Given the description of an element on the screen output the (x, y) to click on. 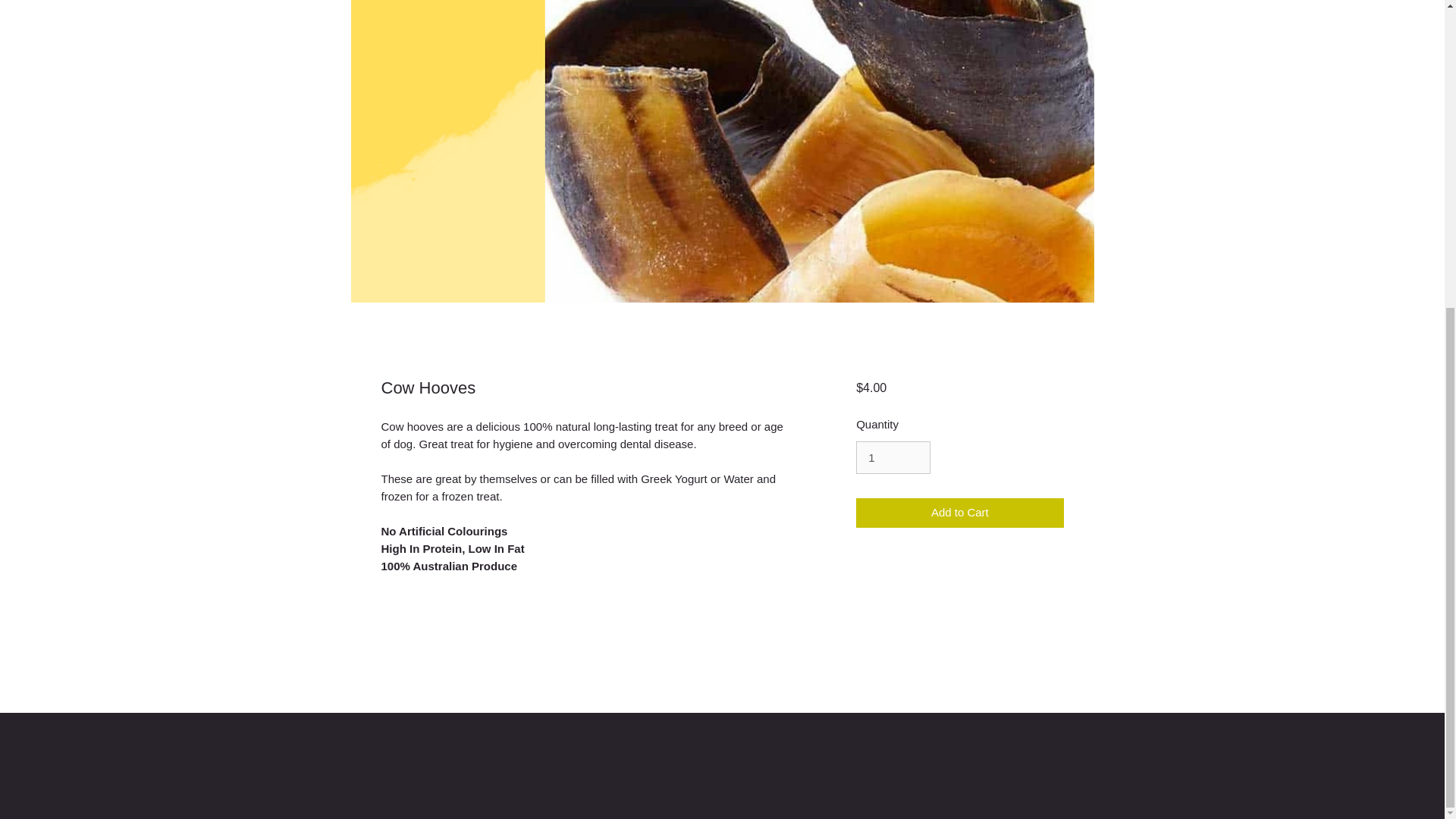
Add to Cart (959, 512)
1 (893, 458)
